Given the description of an element on the screen output the (x, y) to click on. 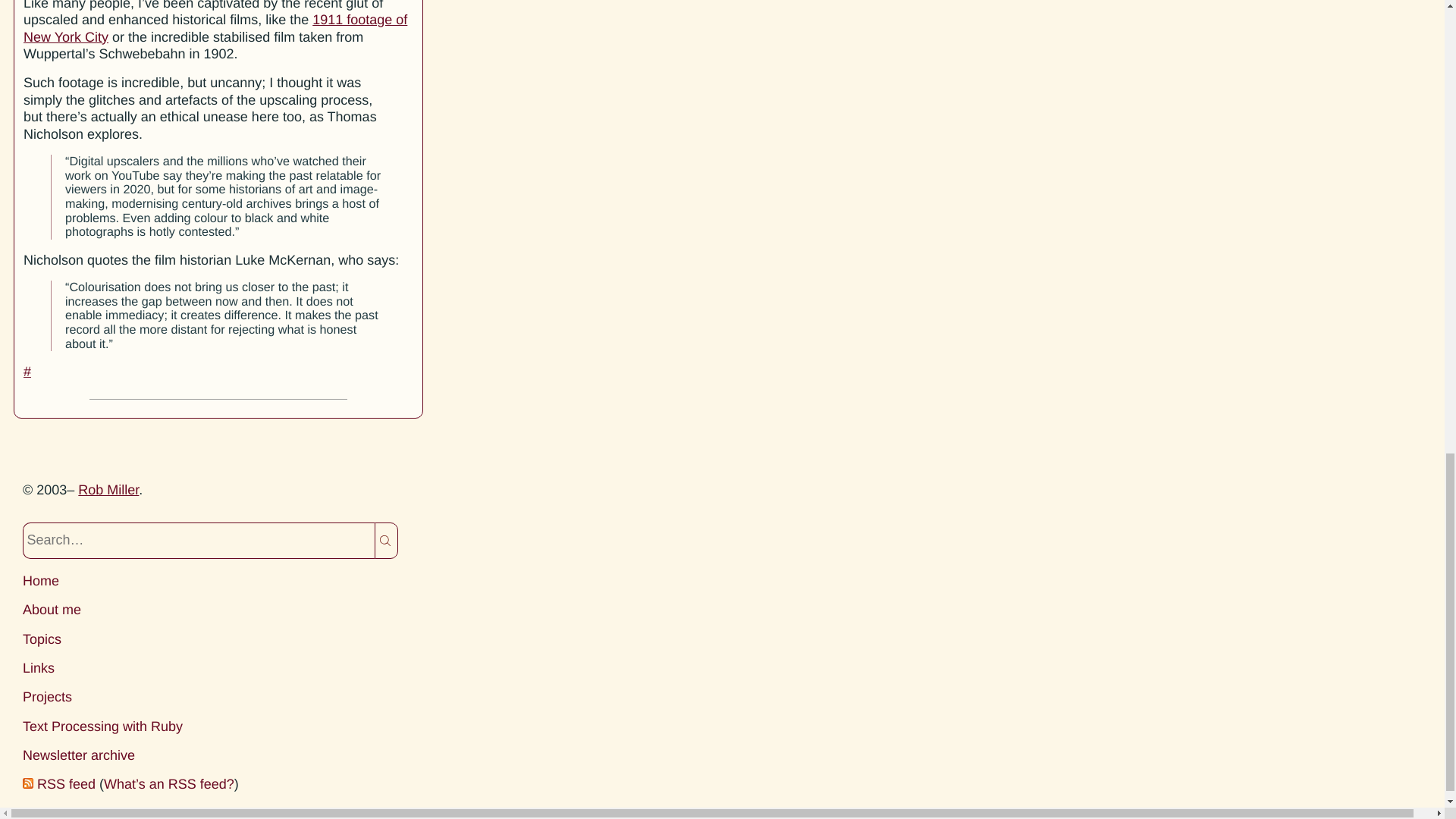
RSS feed (66, 783)
About me (52, 609)
Newsletter archive (215, 28)
Projects (79, 754)
Text Processing with Ruby (47, 696)
Rob Miller (103, 726)
Links (108, 489)
Topics (39, 667)
Home (42, 639)
